Given the description of an element on the screen output the (x, y) to click on. 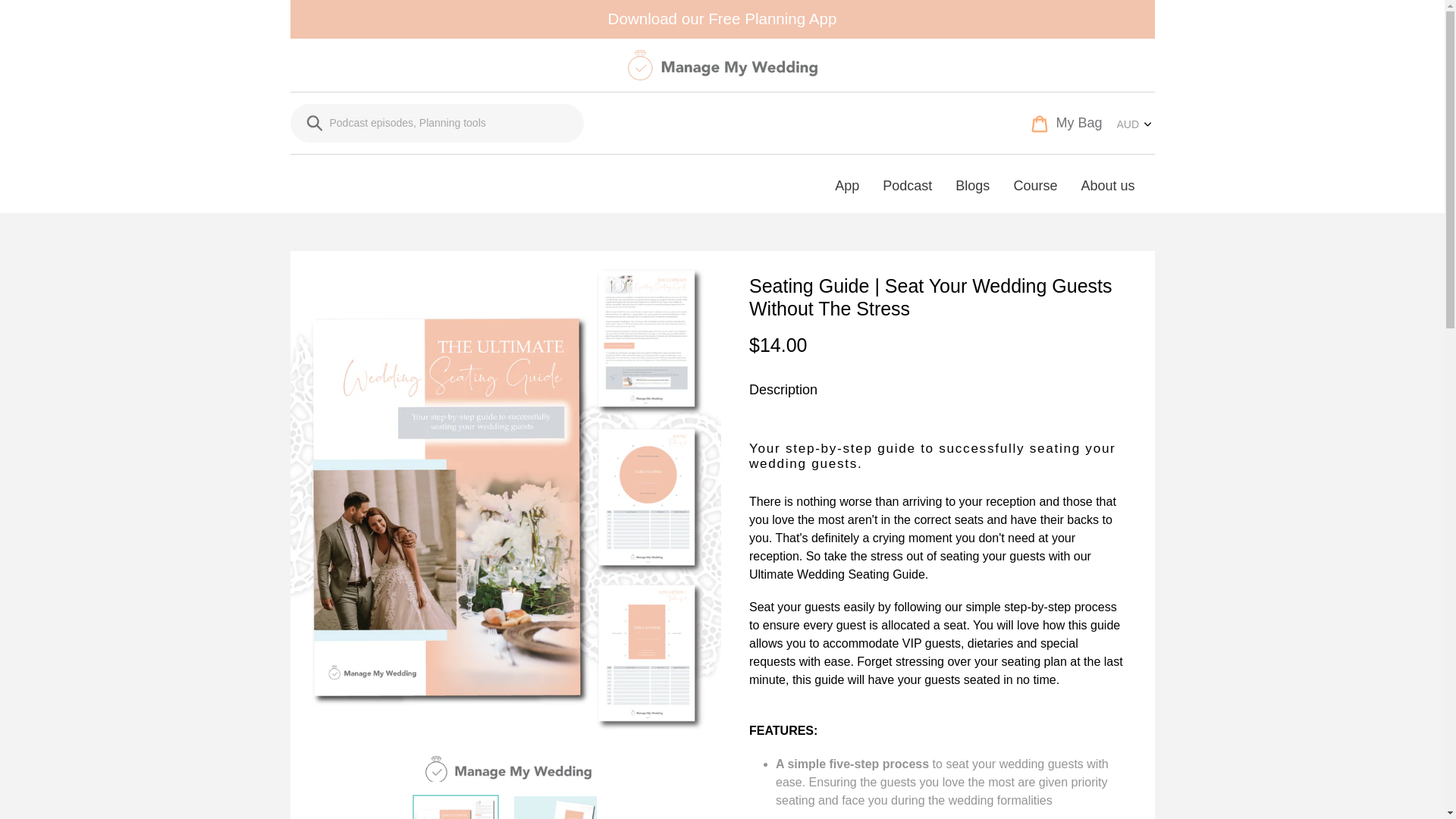
Podcast (1066, 122)
Submit (906, 180)
About us (315, 122)
Download our Free Planning App (1107, 180)
